Given the description of an element on the screen output the (x, y) to click on. 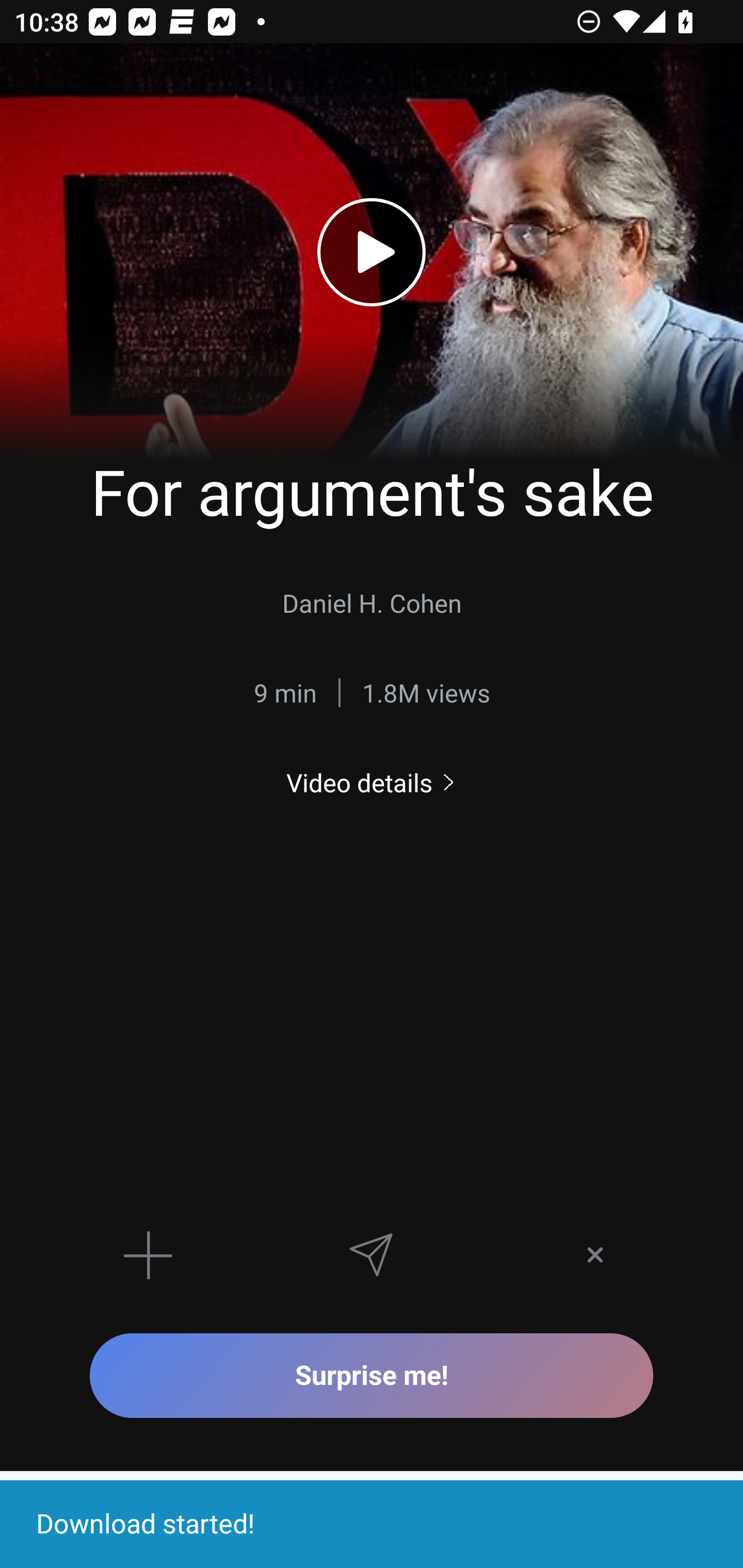
Video details (371, 783)
Surprise me! (371, 1374)
